Given the description of an element on the screen output the (x, y) to click on. 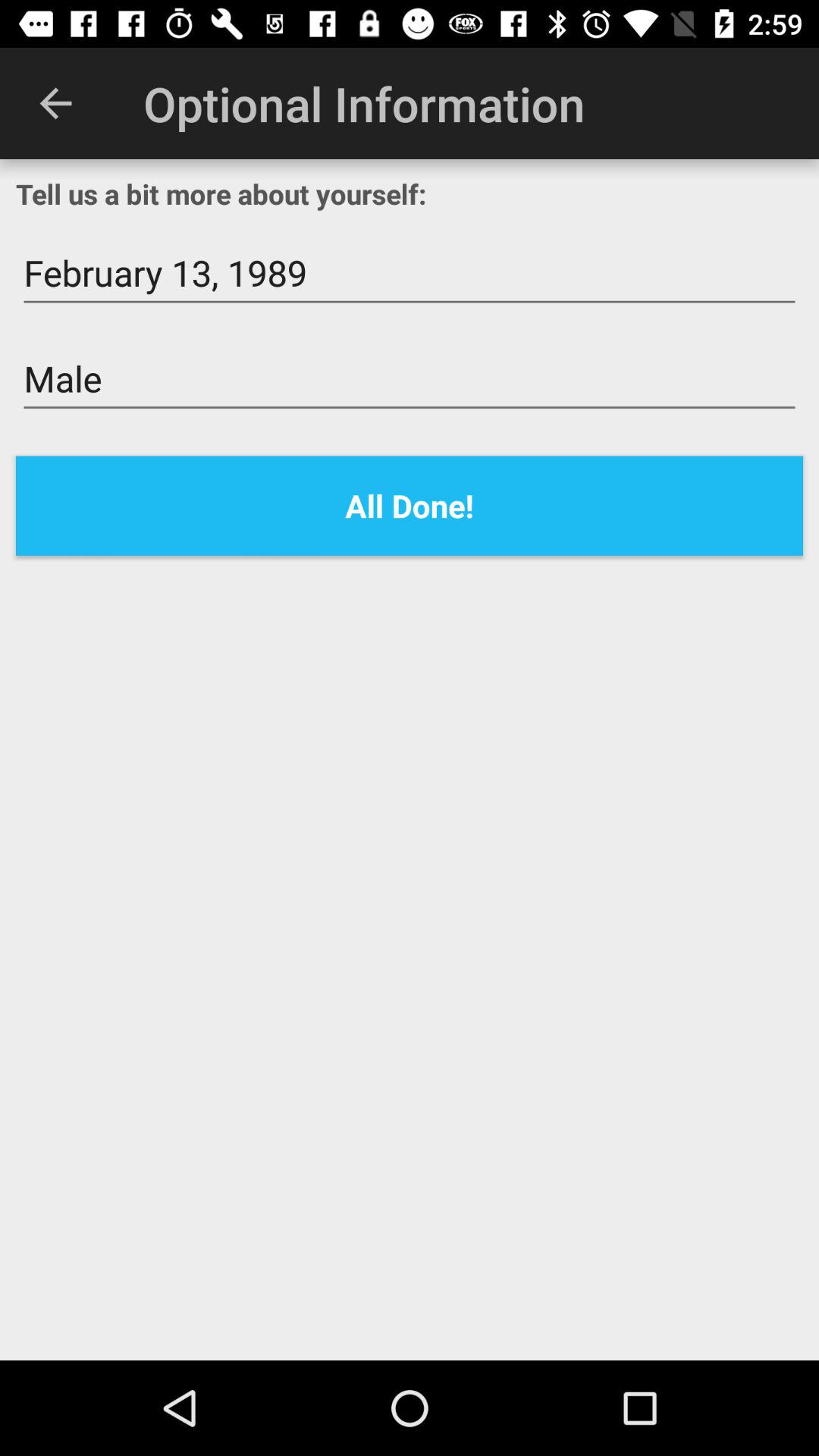
open all done! item (409, 505)
